Given the description of an element on the screen output the (x, y) to click on. 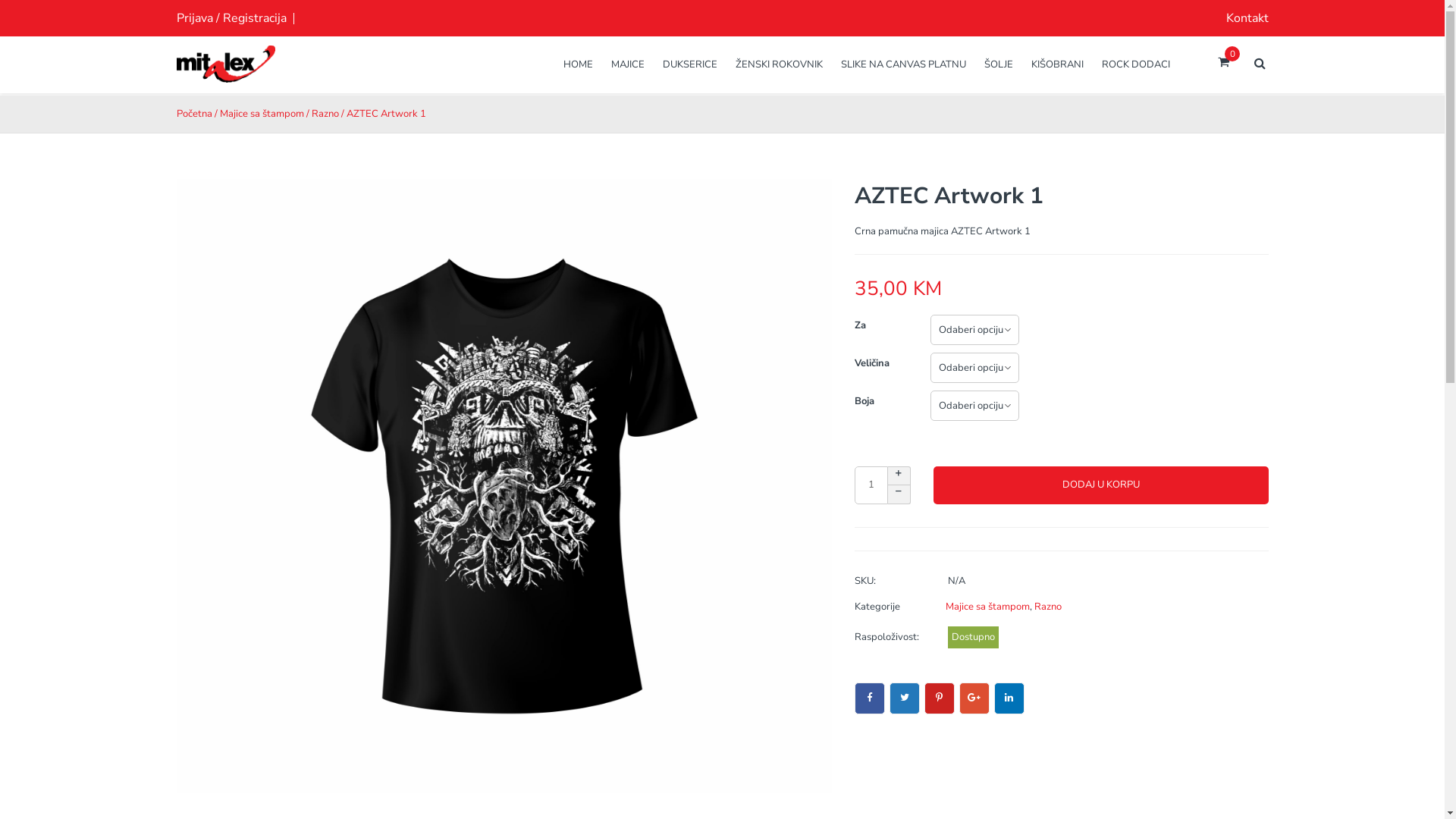
Kreiraj svoj proizvod... Element type: hover (224, 75)
Kontakt Element type: text (1246, 17)
Kol Element type: hover (870, 485)
Prijava / Registracija Element type: text (230, 18)
Share on Facebook Element type: hover (868, 698)
Pin on Pinterest Element type: hover (938, 698)
DODAJ U KORPU Element type: text (1099, 485)
Razno Element type: text (1047, 606)
Share on Google+ Element type: hover (973, 698)
0 Element type: text (1223, 62)
MAJICE Element type: text (627, 64)
DUKSERICE Element type: text (689, 64)
ROCK DODACI Element type: text (1131, 64)
HOME Element type: text (582, 64)
SLIKE NA CANVAS PLATNU Element type: text (903, 64)
Share on LinkedIn Element type: hover (1008, 698)
Razno Element type: text (324, 113)
Share on Twitter Element type: hover (903, 698)
